Given the description of an element on the screen output the (x, y) to click on. 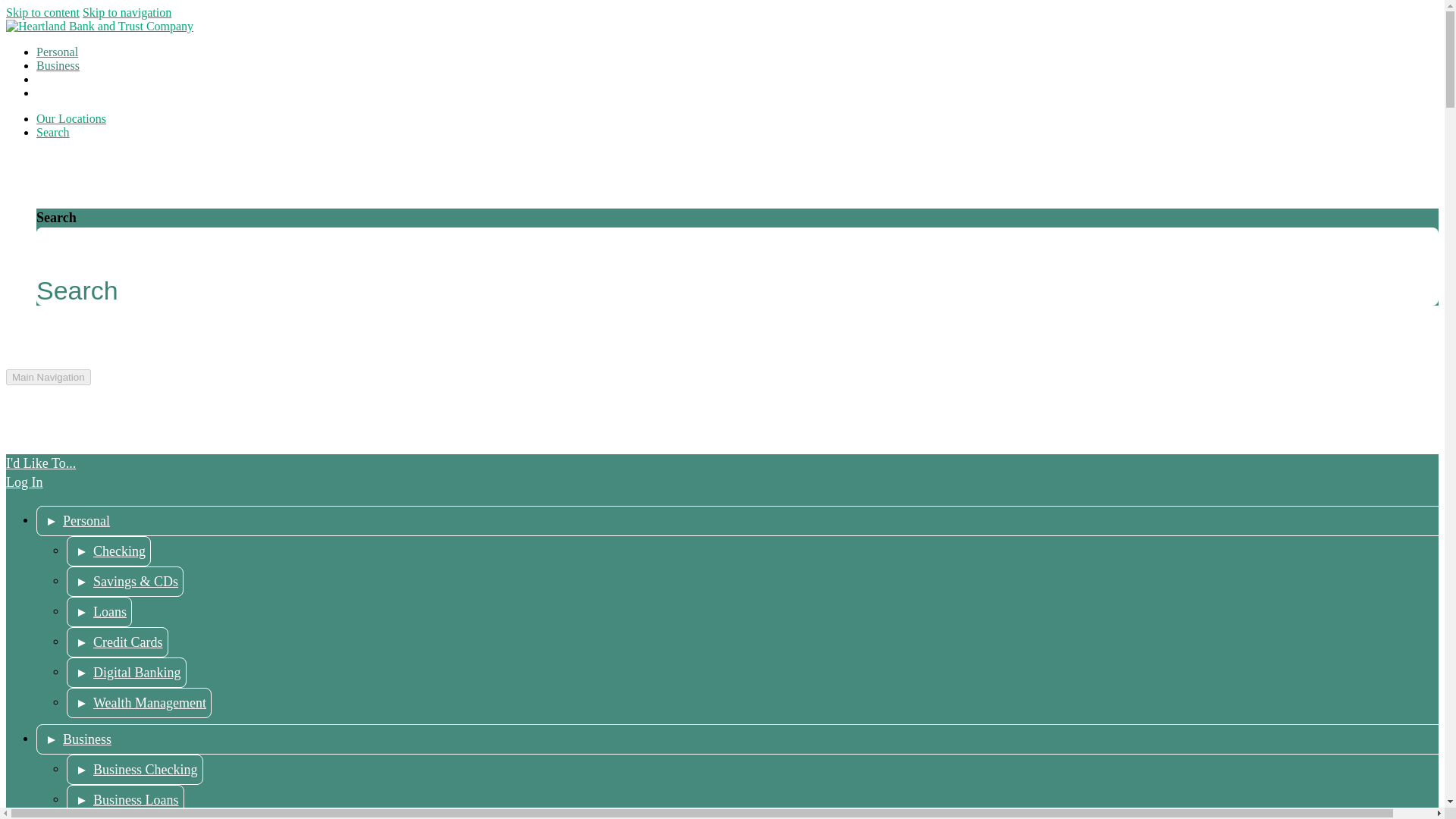
Skip to navigation (126, 11)
Business Loans (125, 799)
Digital Banking (126, 672)
I'd Like To... (67, 78)
Business Banking (58, 65)
Business Loans (125, 799)
Business Credit Cards (142, 816)
Checking (108, 551)
I'd Like To... (67, 78)
Loans (99, 612)
Checking (108, 551)
Search (52, 132)
Log In (52, 92)
Site Search (52, 132)
Business Checking (134, 769)
